Given the description of an element on the screen output the (x, y) to click on. 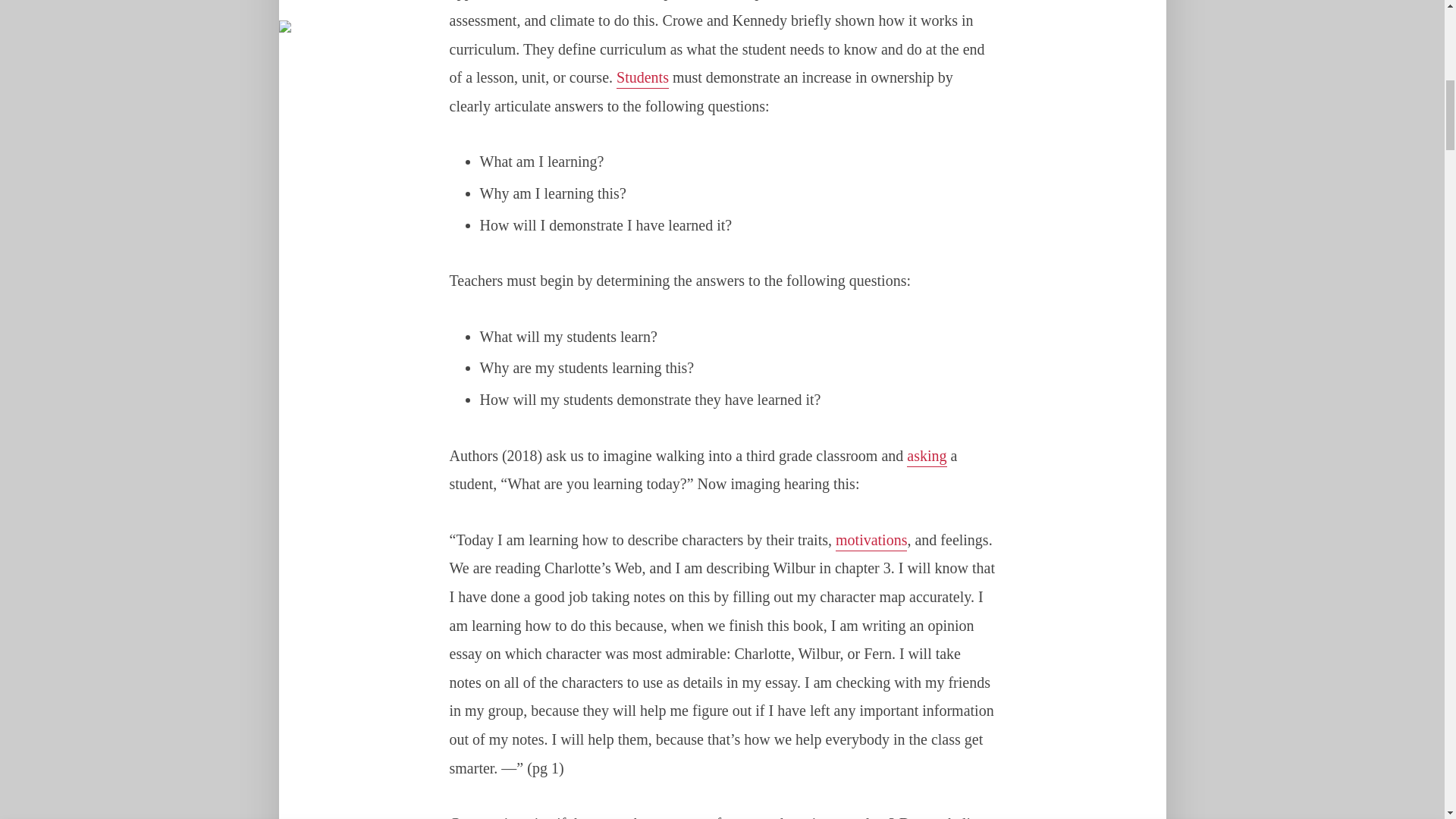
motivations (871, 541)
Students (641, 78)
asking (926, 456)
